Given the description of an element on the screen output the (x, y) to click on. 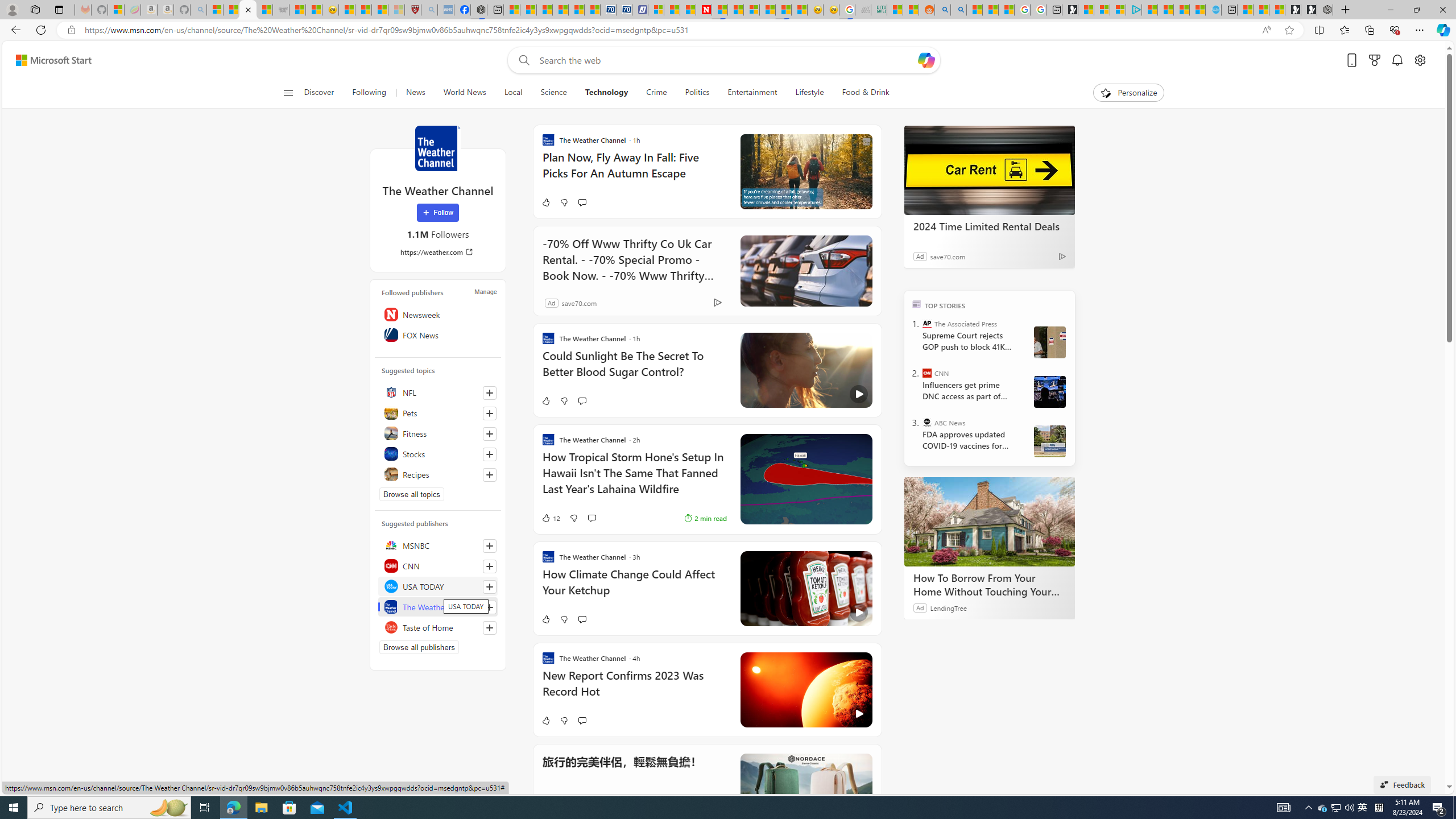
 ATS_2336.jpg (1049, 391)
